Given the description of an element on the screen output the (x, y) to click on. 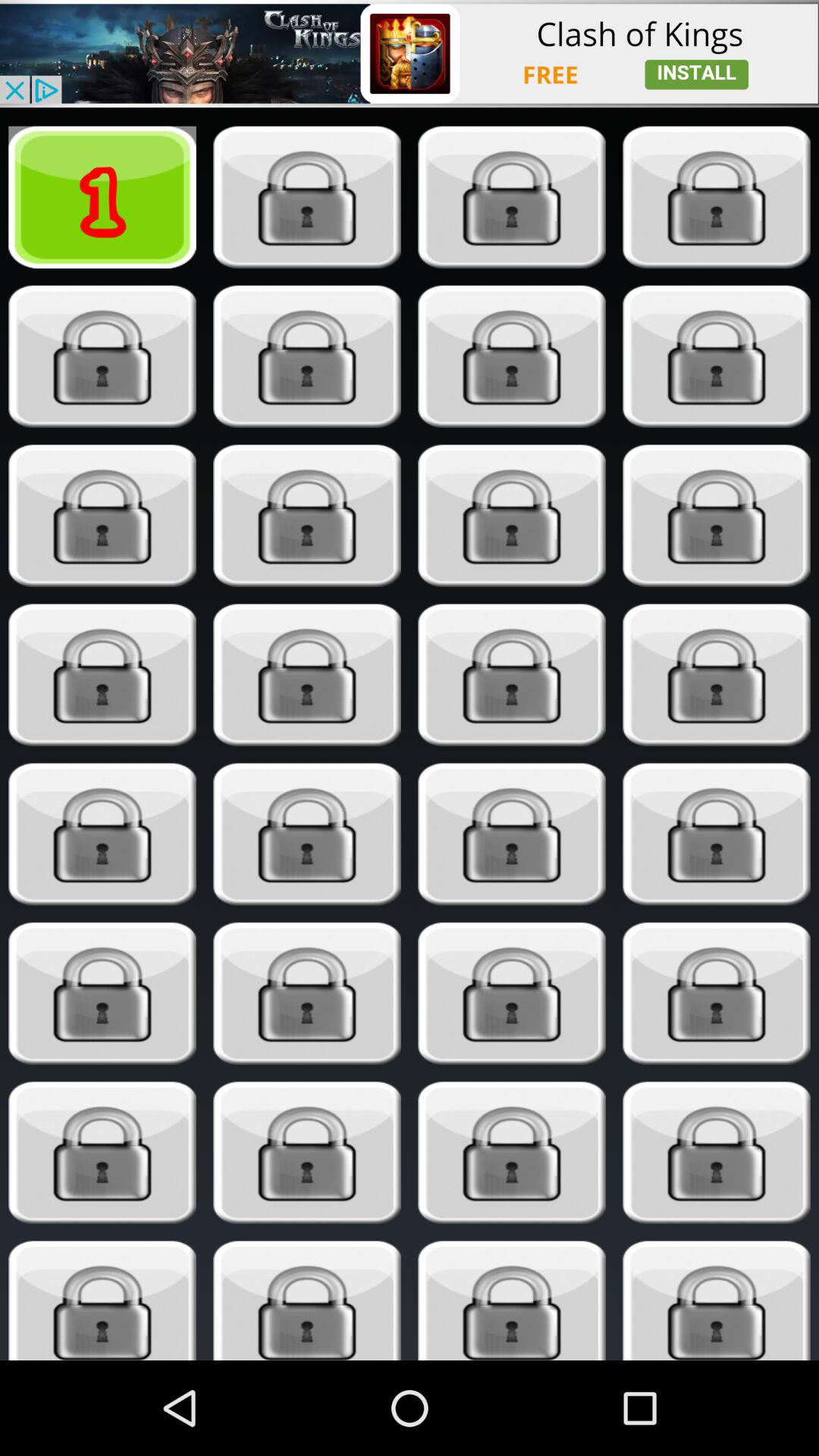
press the 4th lock on the first row (716, 197)
